Given the description of an element on the screen output the (x, y) to click on. 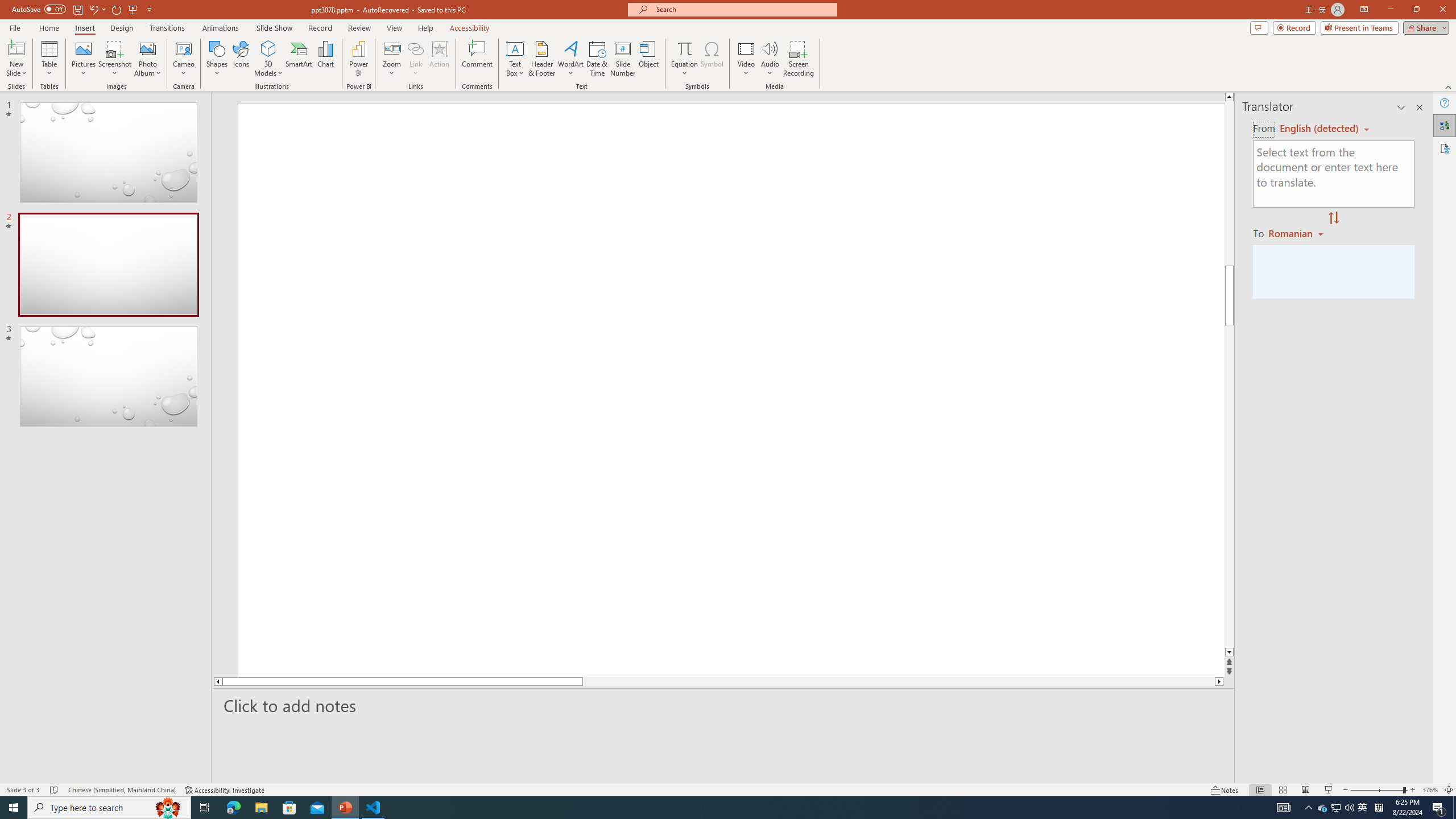
Screen Recording... (798, 58)
SmartArt... (298, 58)
Video (745, 58)
Object... (649, 58)
